Given the description of an element on the screen output the (x, y) to click on. 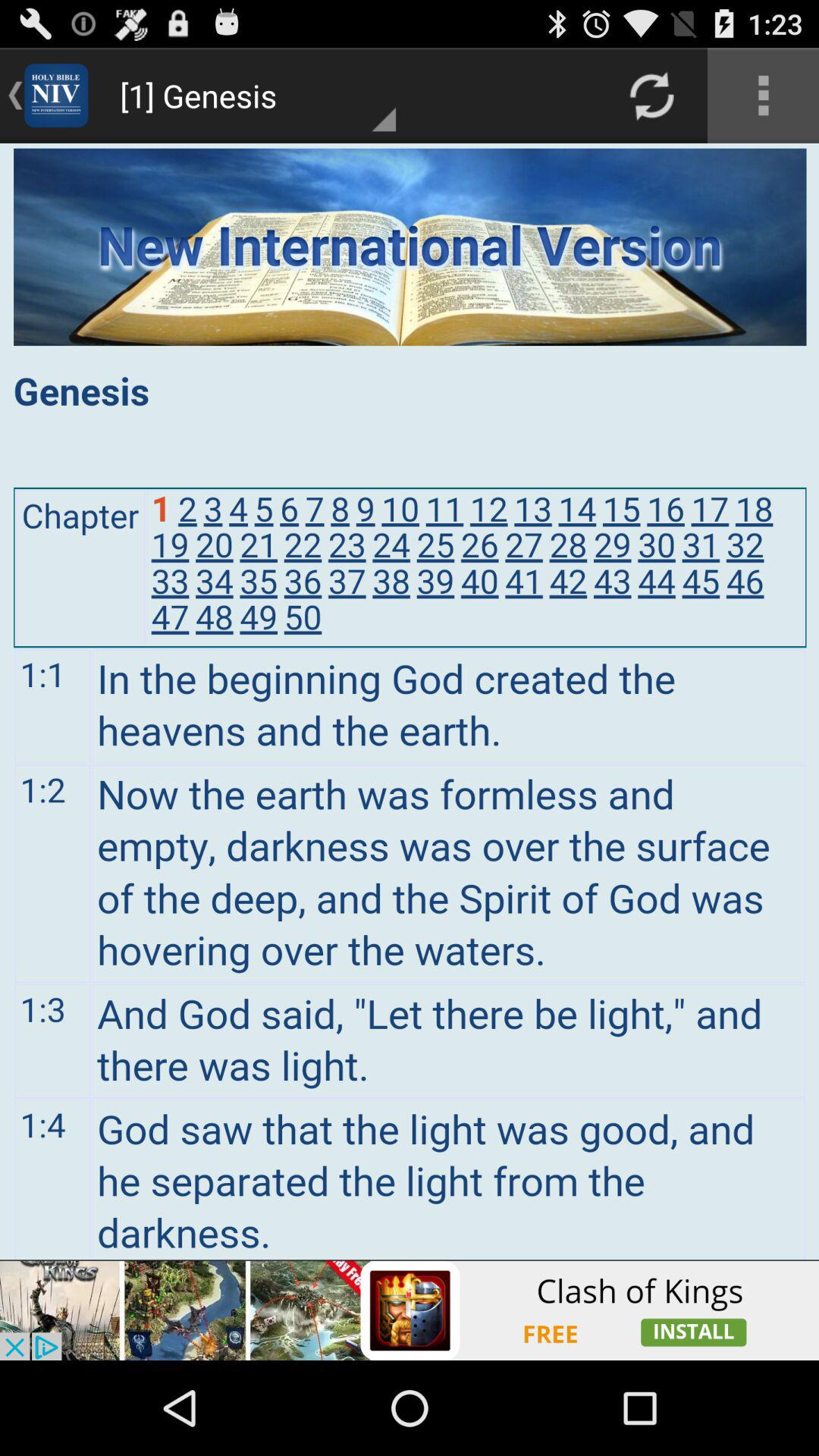
sponsor advertisement (409, 1310)
